Given the description of an element on the screen output the (x, y) to click on. 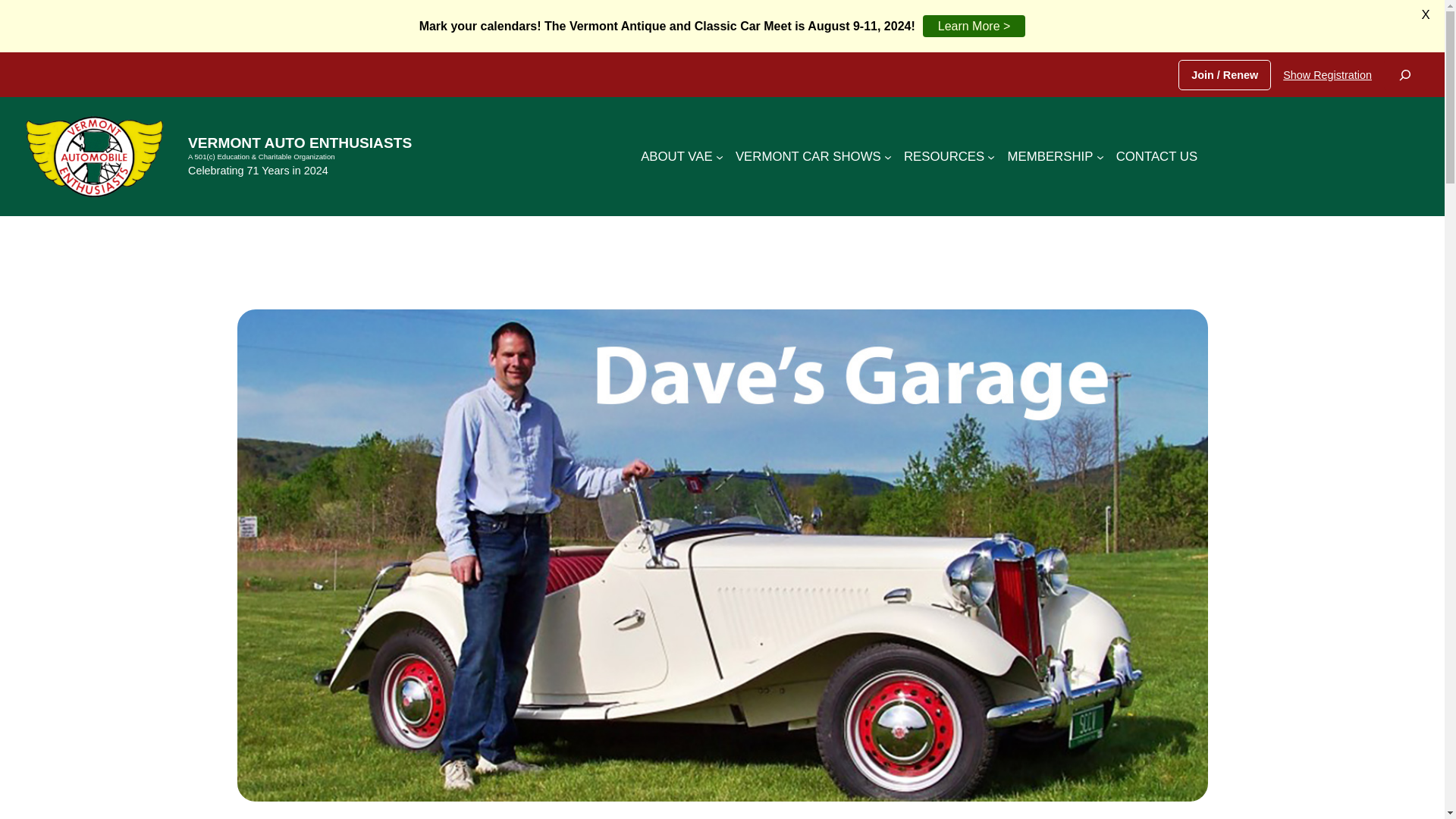
MEMBERSHIP (1050, 157)
RESOURCES (944, 157)
ABOUT VAE (676, 157)
VERMONT AUTO ENTHUSIASTS (299, 142)
VERMONT CAR SHOWS (807, 157)
Show Registration (1326, 74)
